Given the description of an element on the screen output the (x, y) to click on. 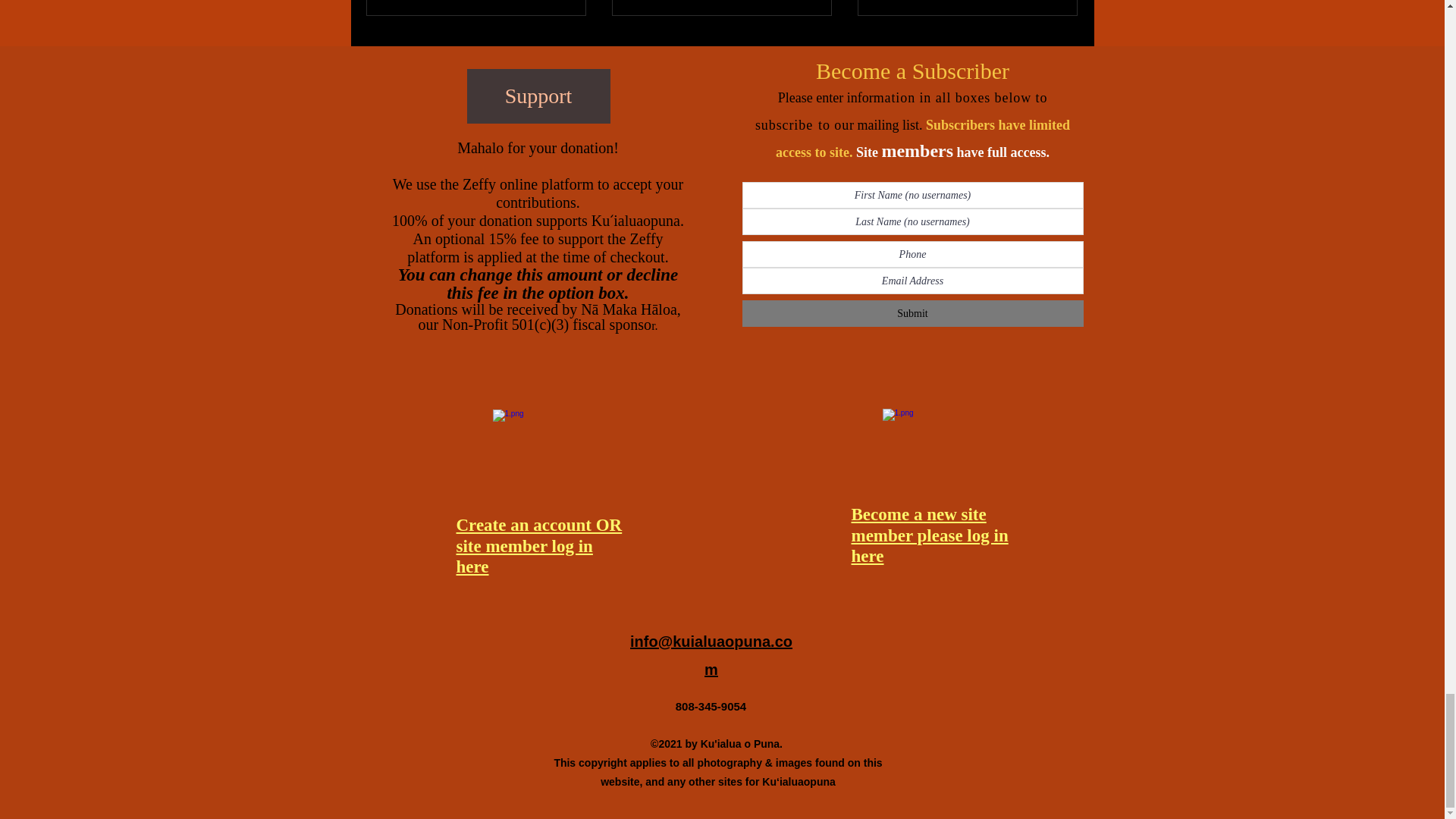
Haumana log in (534, 450)
Haumana log in (924, 449)
